Given the description of an element on the screen output the (x, y) to click on. 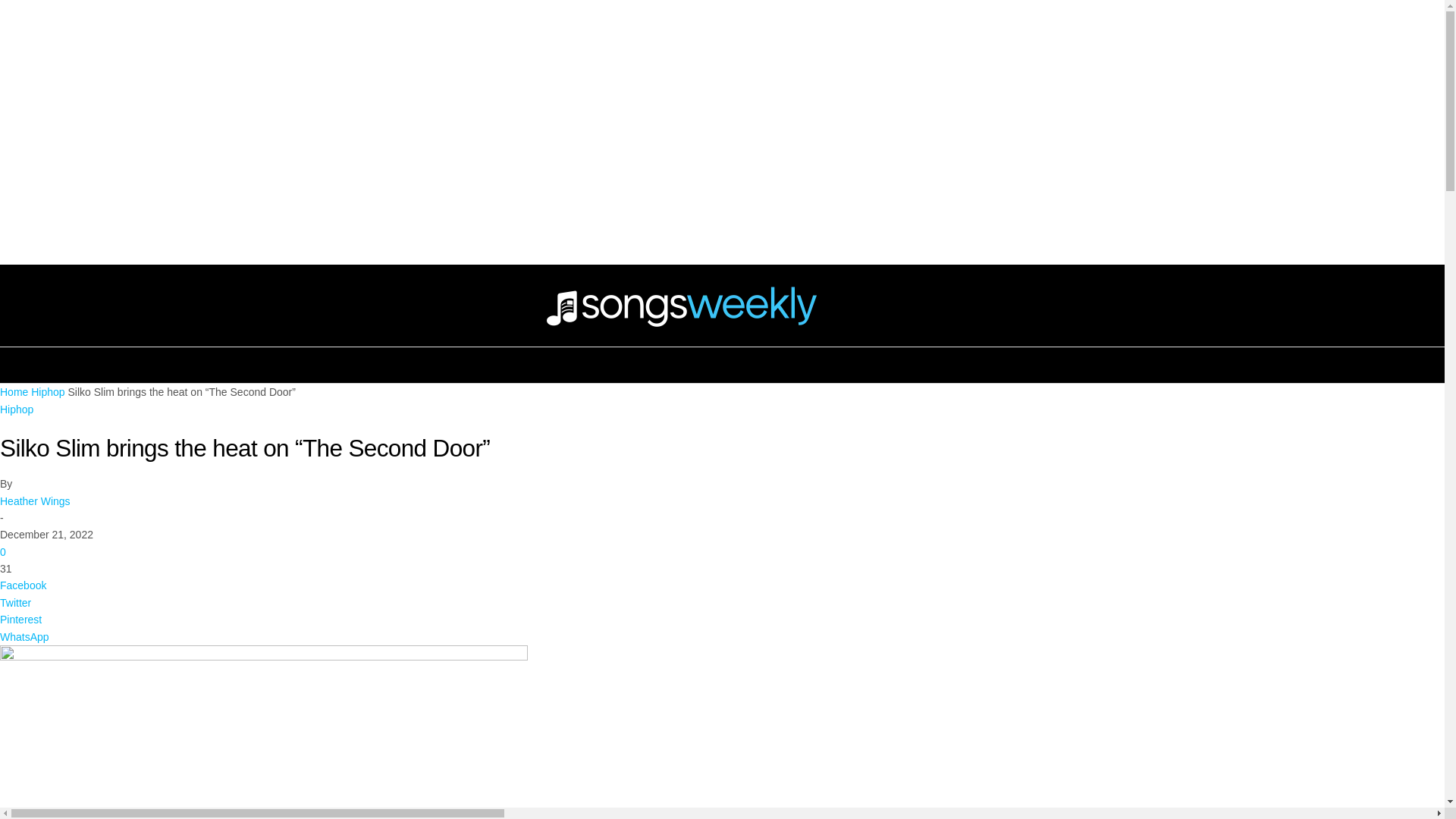
Pinterest (722, 619)
Hiphop (16, 409)
WhatsApp (722, 636)
GOSSIP (722, 194)
ut (263, 732)
WhatsApp (722, 636)
View all posts in Hiphop (47, 391)
Hiphop (47, 391)
Facebook (722, 585)
Twitter (722, 602)
